Given the description of an element on the screen output the (x, y) to click on. 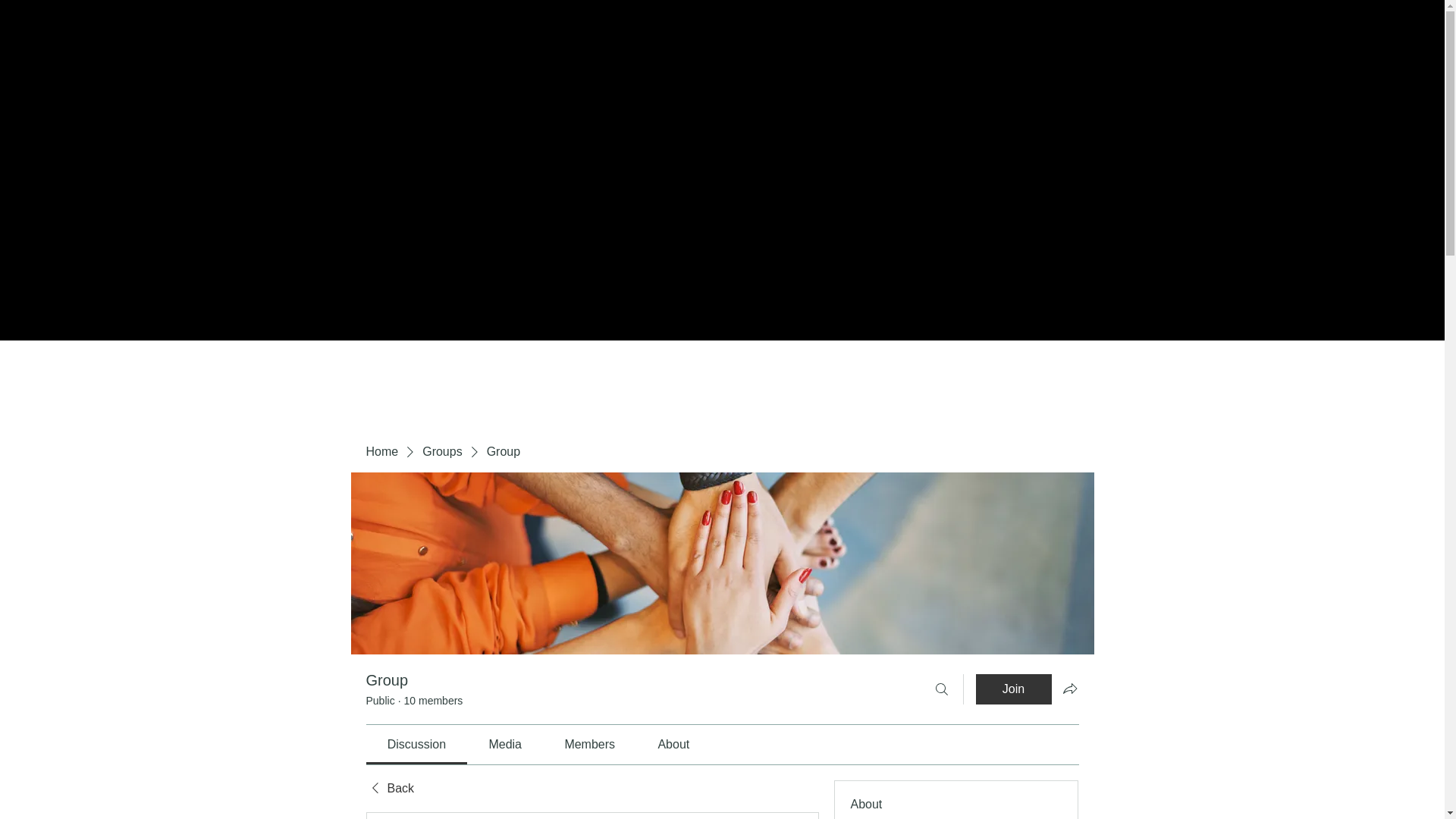
Back (389, 788)
Home (381, 451)
Groups (441, 451)
Join (1013, 689)
